Given the description of an element on the screen output the (x, y) to click on. 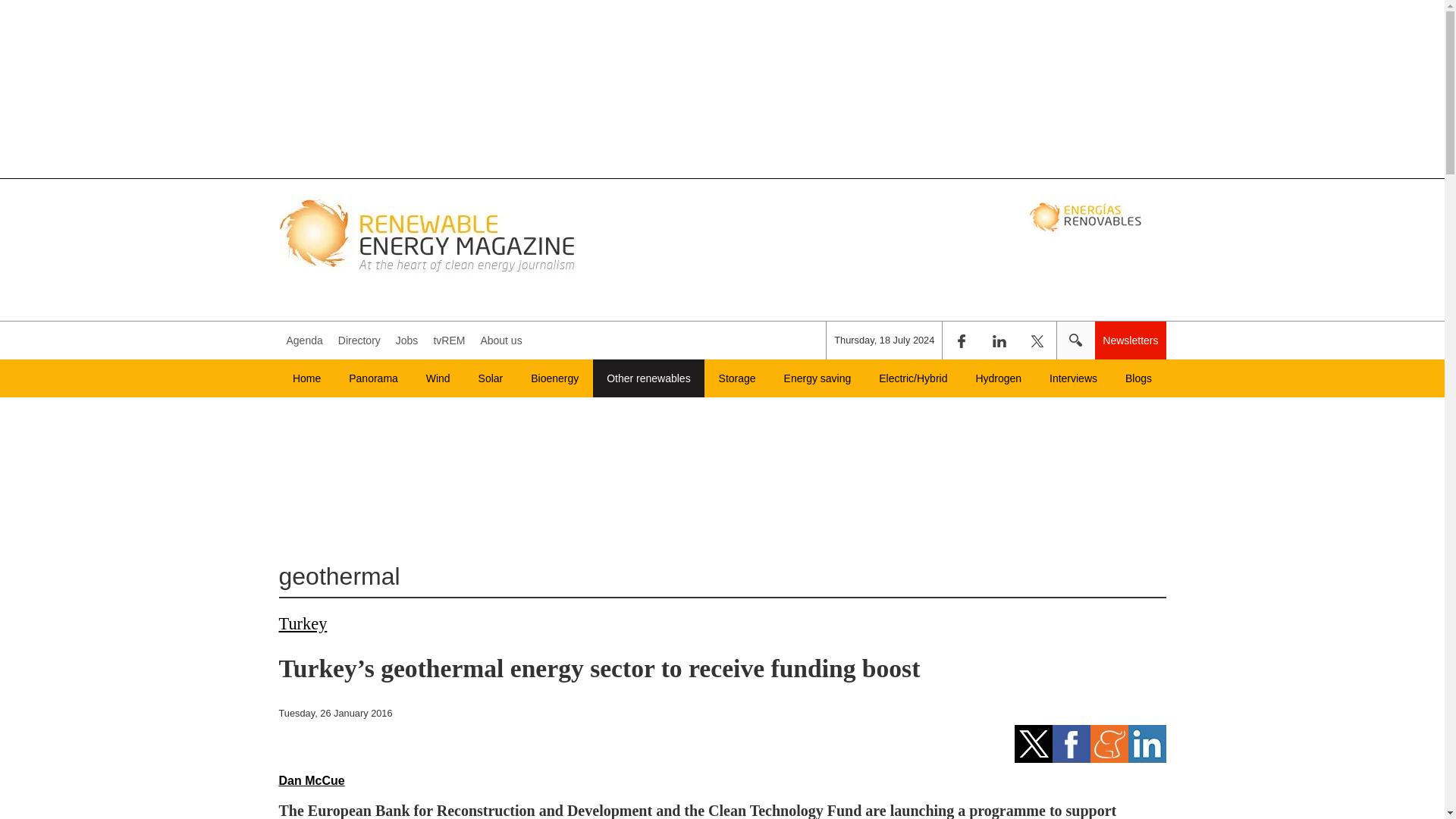
Go to Jobs (407, 340)
Ir a Inicio (429, 234)
About us (500, 340)
Go to Companies directory (359, 340)
Jobs (407, 340)
Other renewables (648, 378)
Go to Panorama (373, 378)
Wind (438, 378)
Go to Newsletters (1130, 340)
Directory (359, 340)
Storage (737, 378)
Newsletters (1130, 340)
Interviews (1073, 378)
Panorama (373, 378)
Go to Wind (438, 378)
